Given the description of an element on the screen output the (x, y) to click on. 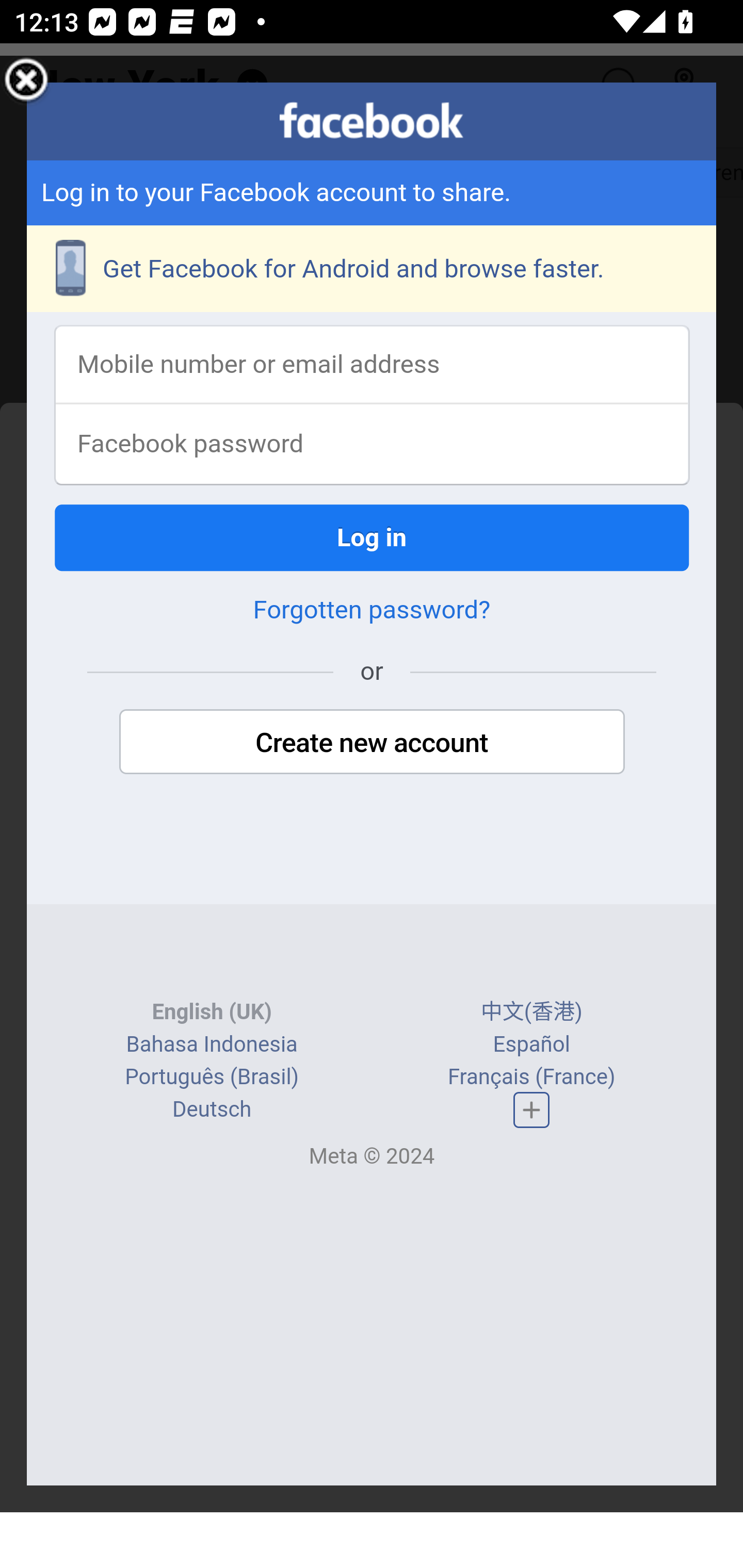
facebook (372, 121)
Get Facebook for Android and browse faster. (372, 270)
Log in (372, 538)
Forgotten password? (371, 611)
Create new account (371, 743)
中文(香港) (531, 1013)
Bahasa Indonesia (210, 1044)
Español (530, 1044)
Português (Brasil) (211, 1077)
Français (France) (530, 1077)
Complete list of languages (531, 1110)
Deutsch (211, 1110)
